Given the description of an element on the screen output the (x, y) to click on. 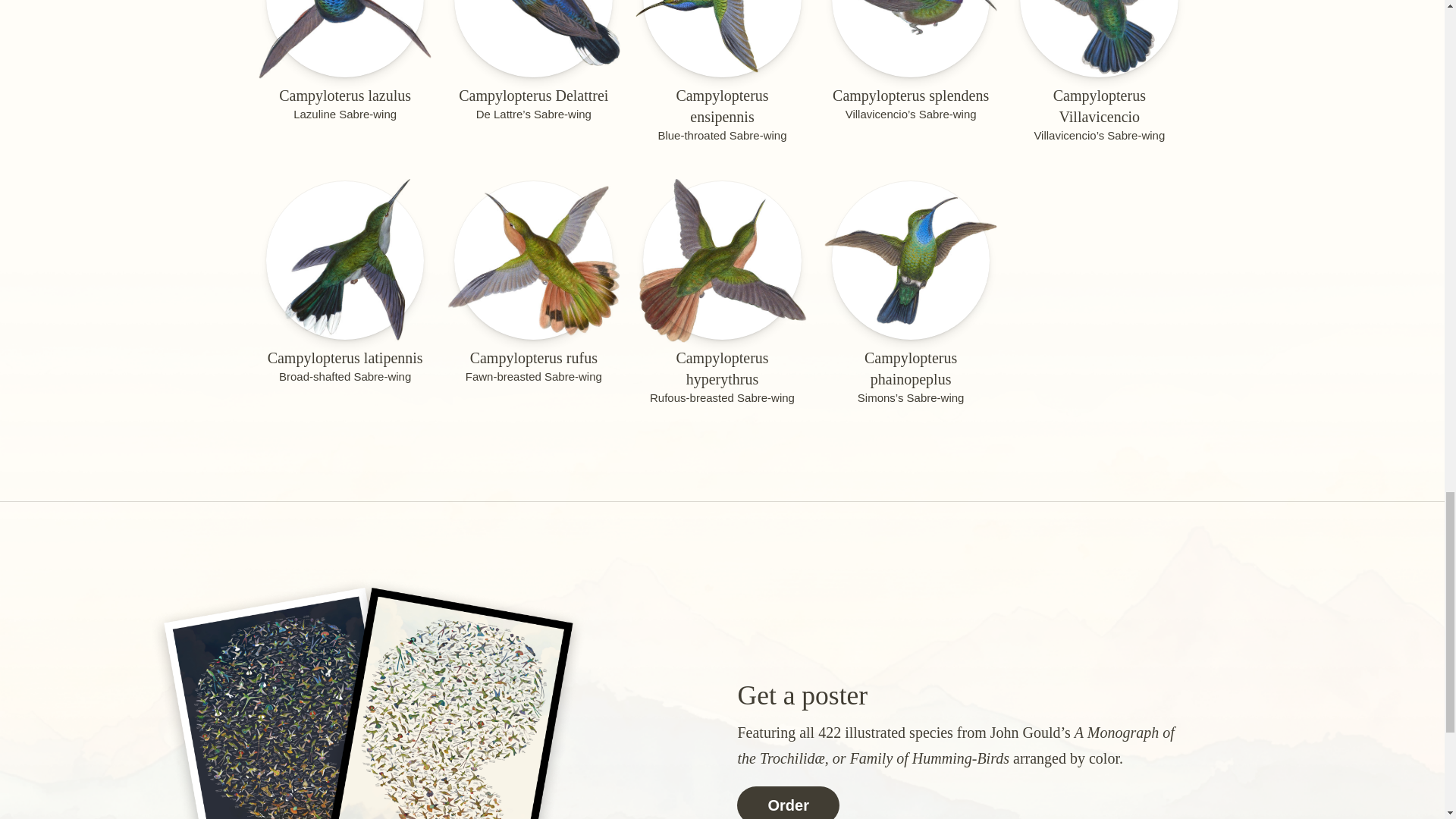
Order (787, 802)
